Given the description of an element on the screen output the (x, y) to click on. 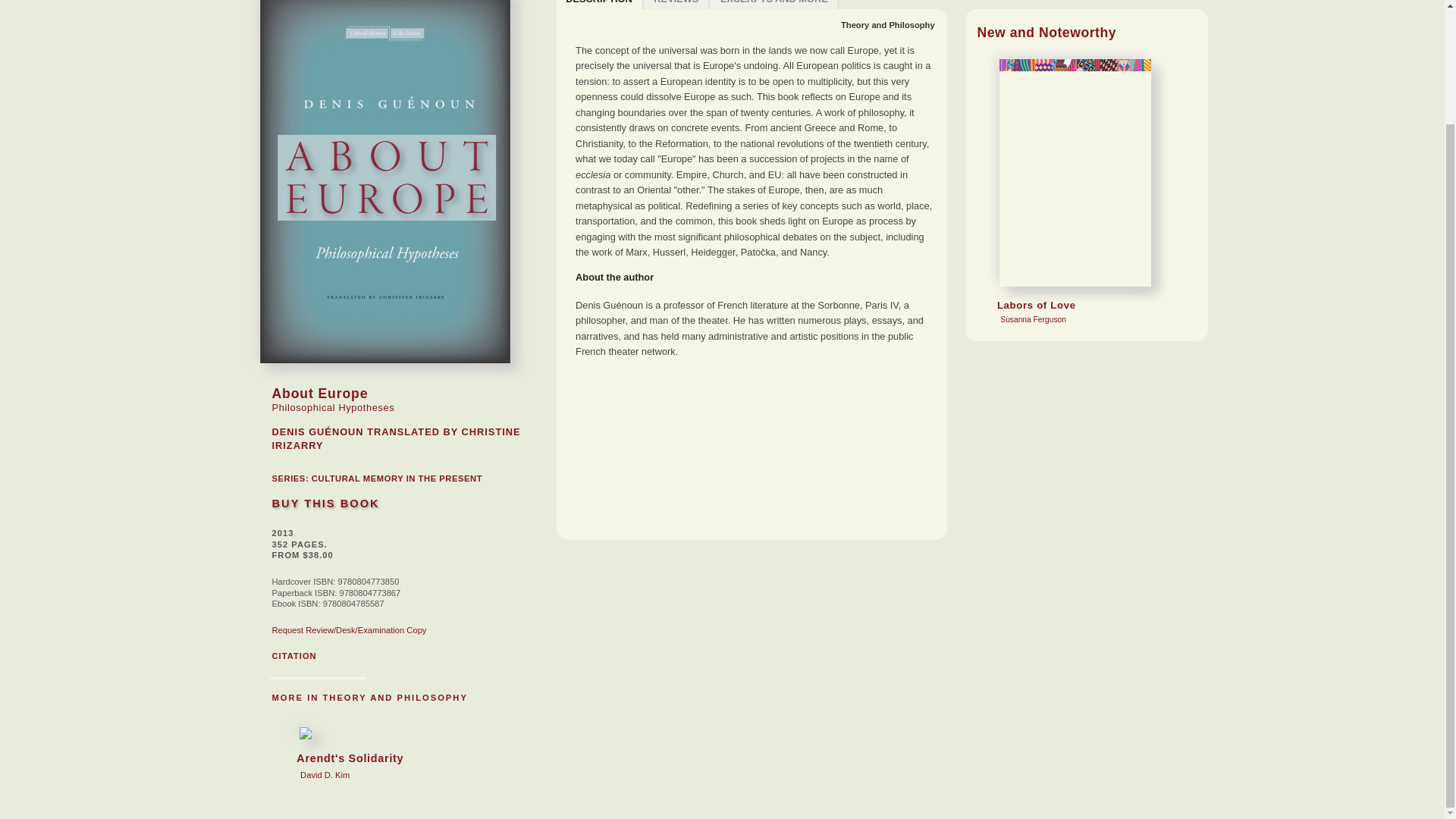
REVIEWS (677, 4)
MORE IN THEORY AND PHILOSOPHY (368, 696)
CULTURAL MEMORY IN THE PRESENT (396, 478)
CITATION (292, 655)
Theory and Philosophy (774, 4)
DESCRIPTION (887, 24)
BUY THIS BOOK (599, 4)
